Given the description of an element on the screen output the (x, y) to click on. 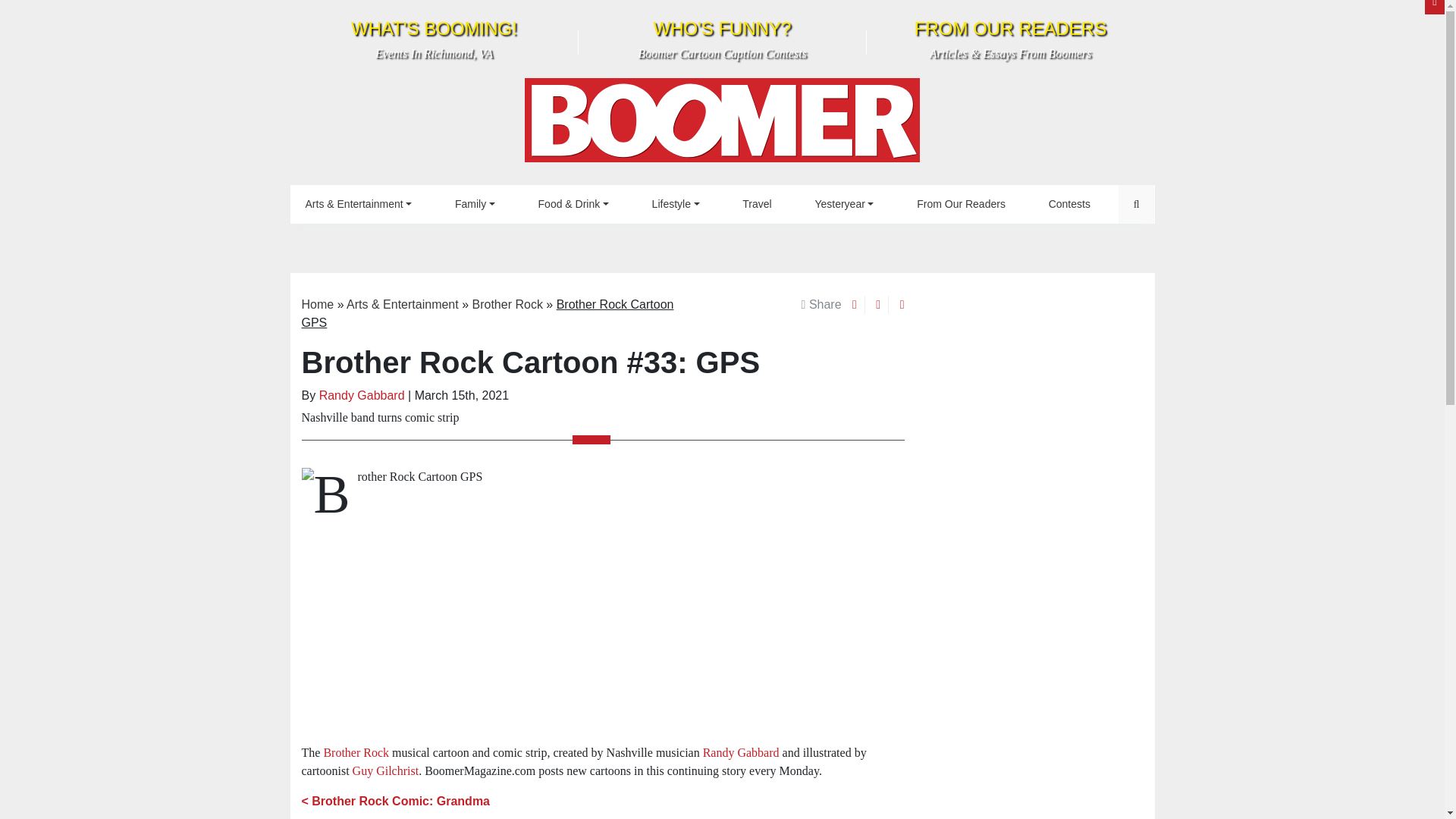
BOOMER Magazine (722, 124)
Travel (722, 39)
From Our Readers (756, 204)
Lifestyle (434, 39)
Family (960, 204)
Family (675, 204)
Yesteryear (475, 204)
Contests (475, 204)
